Given the description of an element on the screen output the (x, y) to click on. 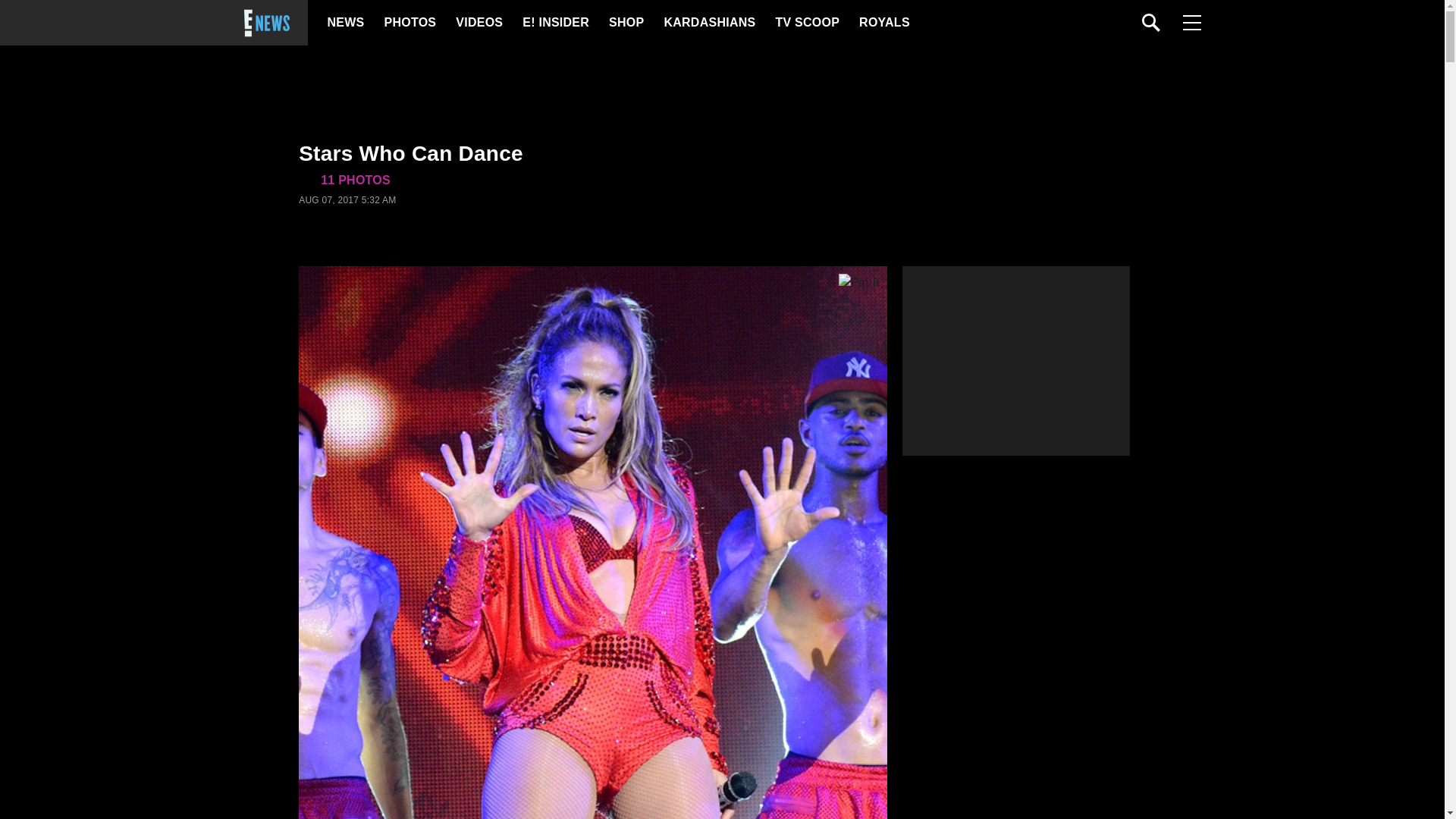
ROYALS (883, 22)
PHOTOS (408, 22)
VIDEOS (478, 22)
NEWS (345, 22)
SHOP (625, 22)
TV SCOOP (806, 22)
E! INSIDER (555, 22)
KARDASHIANS (708, 22)
